Given the description of an element on the screen output the (x, y) to click on. 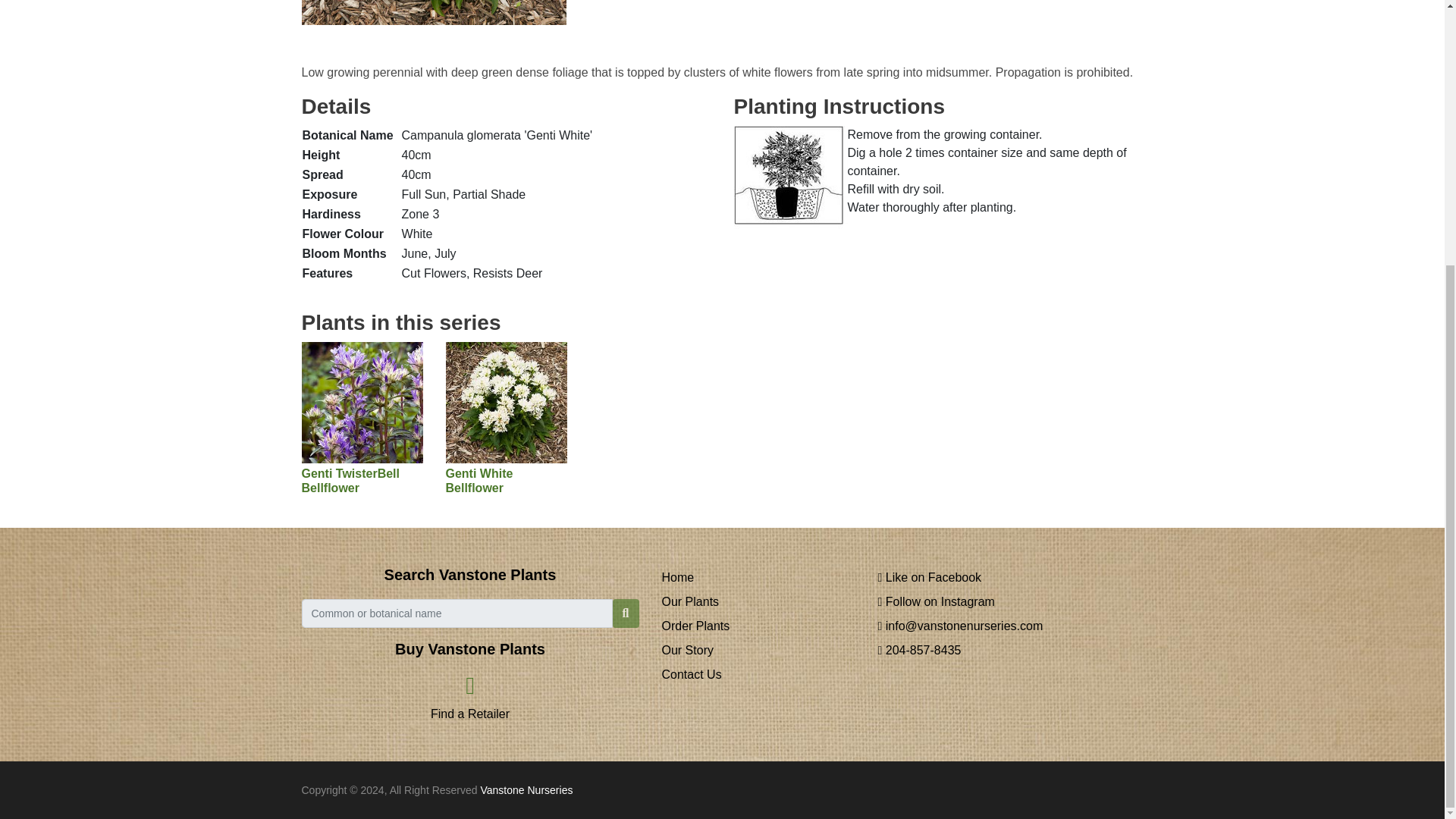
Follow on Instagram (935, 601)
Home (677, 576)
204-857-8435 (918, 649)
Our Plants (690, 601)
Contact Us (690, 674)
Genti TwisterBell Bellflower (362, 444)
Our Story (687, 649)
Find a Retailer (469, 701)
Vanstone Nurseries (526, 789)
Order Plants (695, 625)
